Given the description of an element on the screen output the (x, y) to click on. 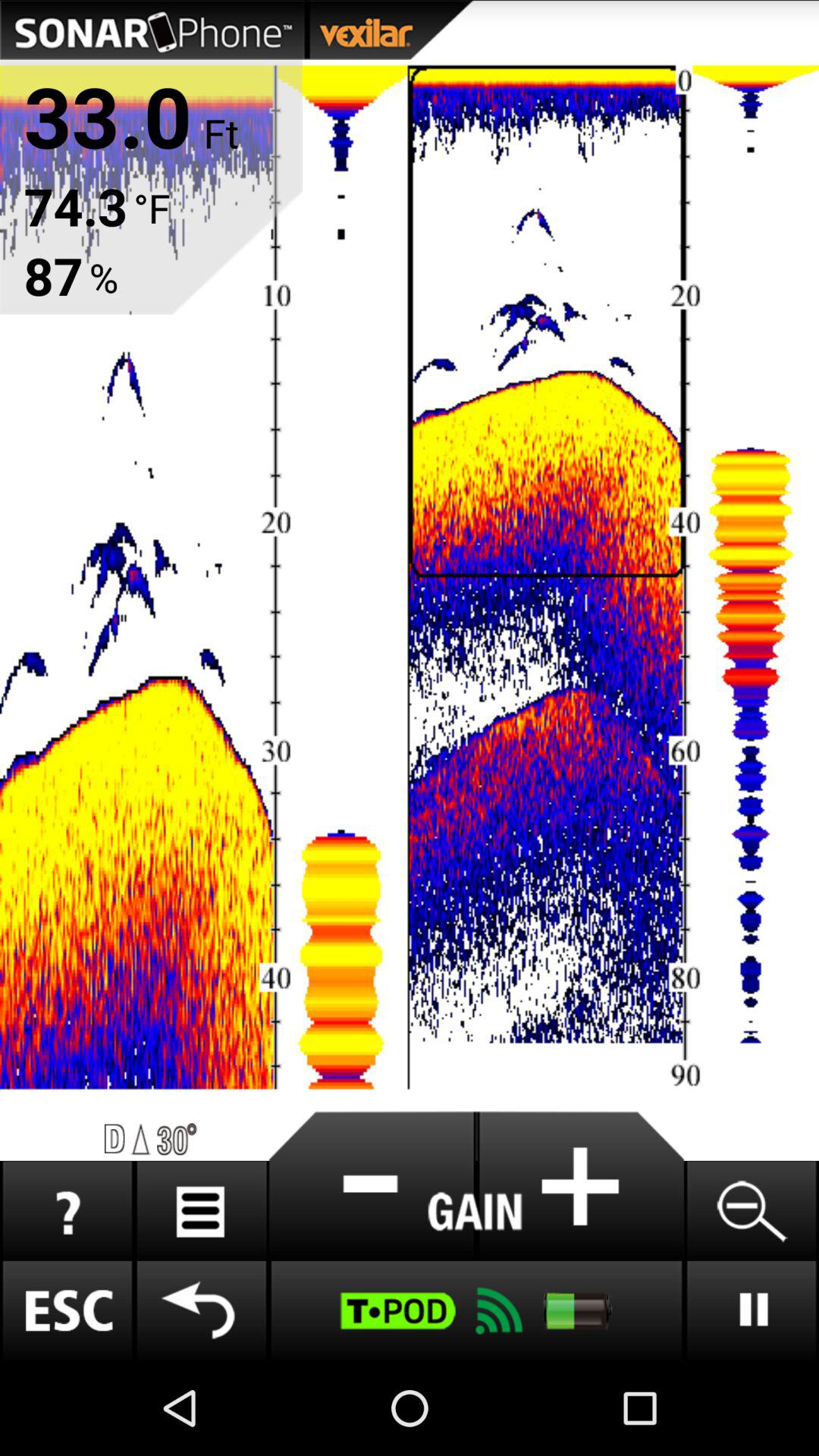
choose the selection (372, 1185)
